Given the description of an element on the screen output the (x, y) to click on. 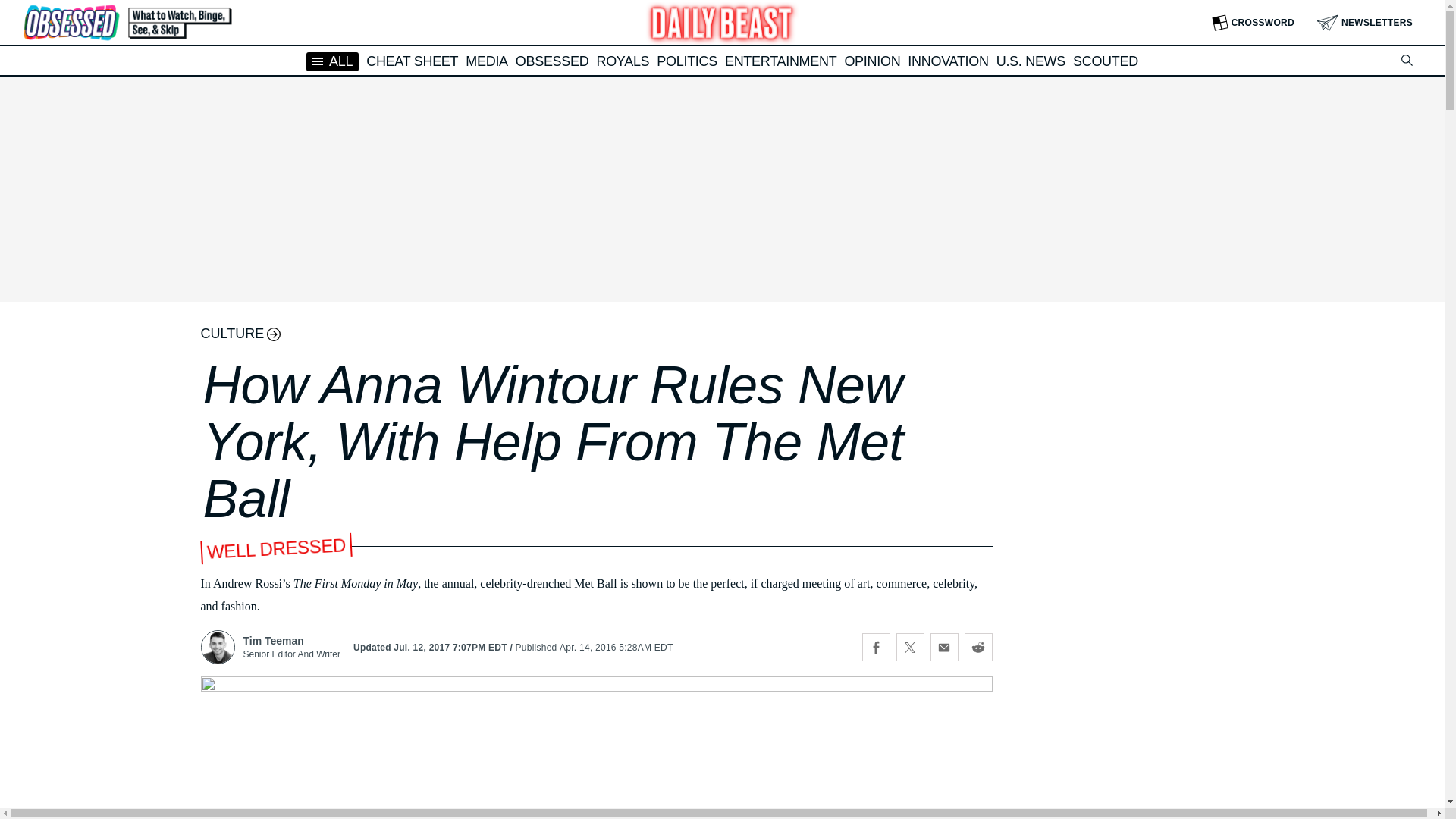
ENTERTAINMENT (780, 60)
INNOVATION (947, 60)
ROYALS (622, 60)
MEDIA (486, 60)
CHEAT SHEET (412, 60)
NEWSLETTERS (1364, 22)
ALL (331, 60)
OBSESSED (552, 60)
CROSSWORD (1252, 22)
U.S. NEWS (1030, 60)
SCOUTED (1105, 60)
OPINION (871, 60)
POLITICS (686, 60)
